Given the description of an element on the screen output the (x, y) to click on. 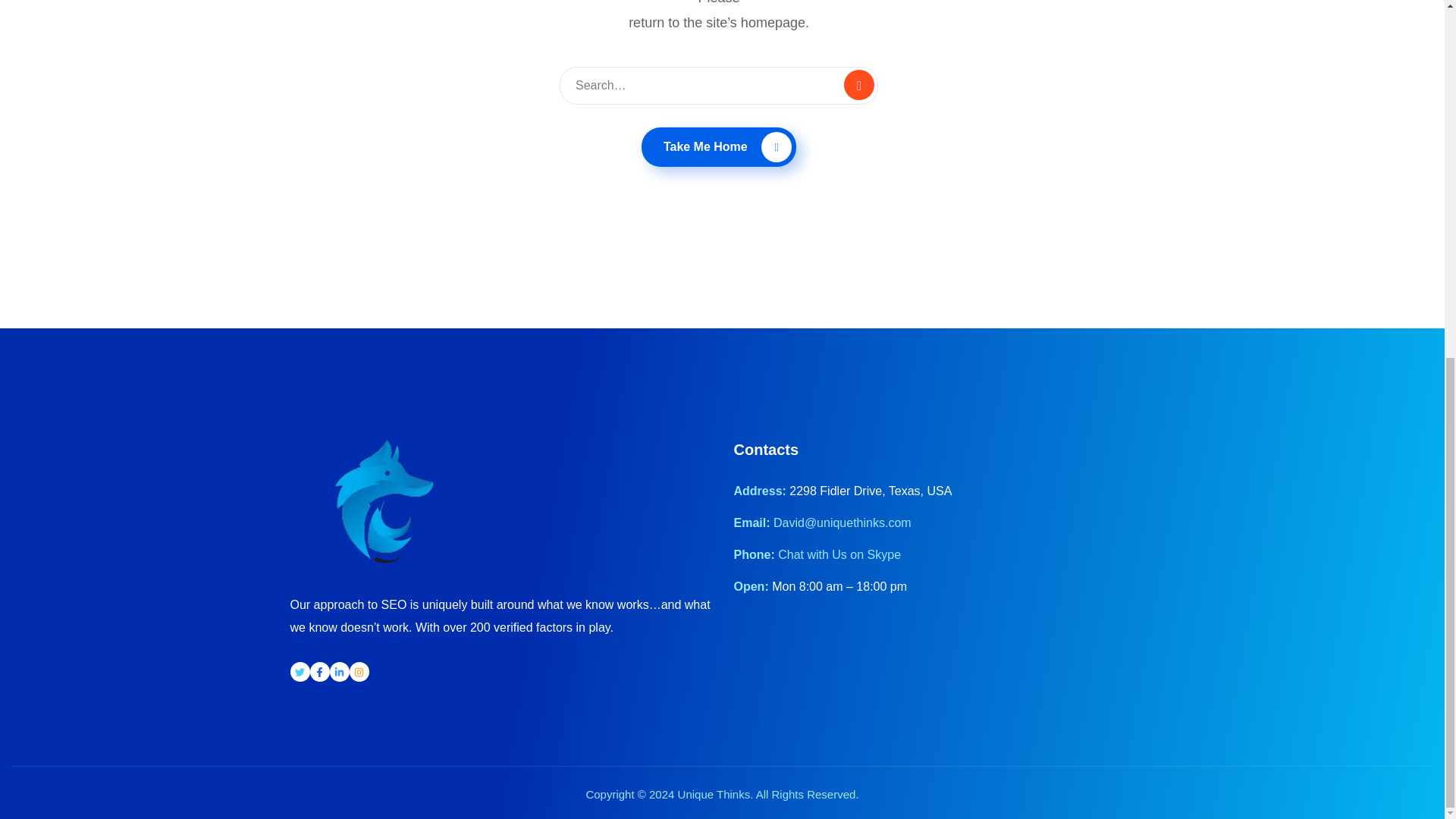
Chat with Us on Skype (839, 554)
Take Me Home (719, 147)
